Given the description of an element on the screen output the (x, y) to click on. 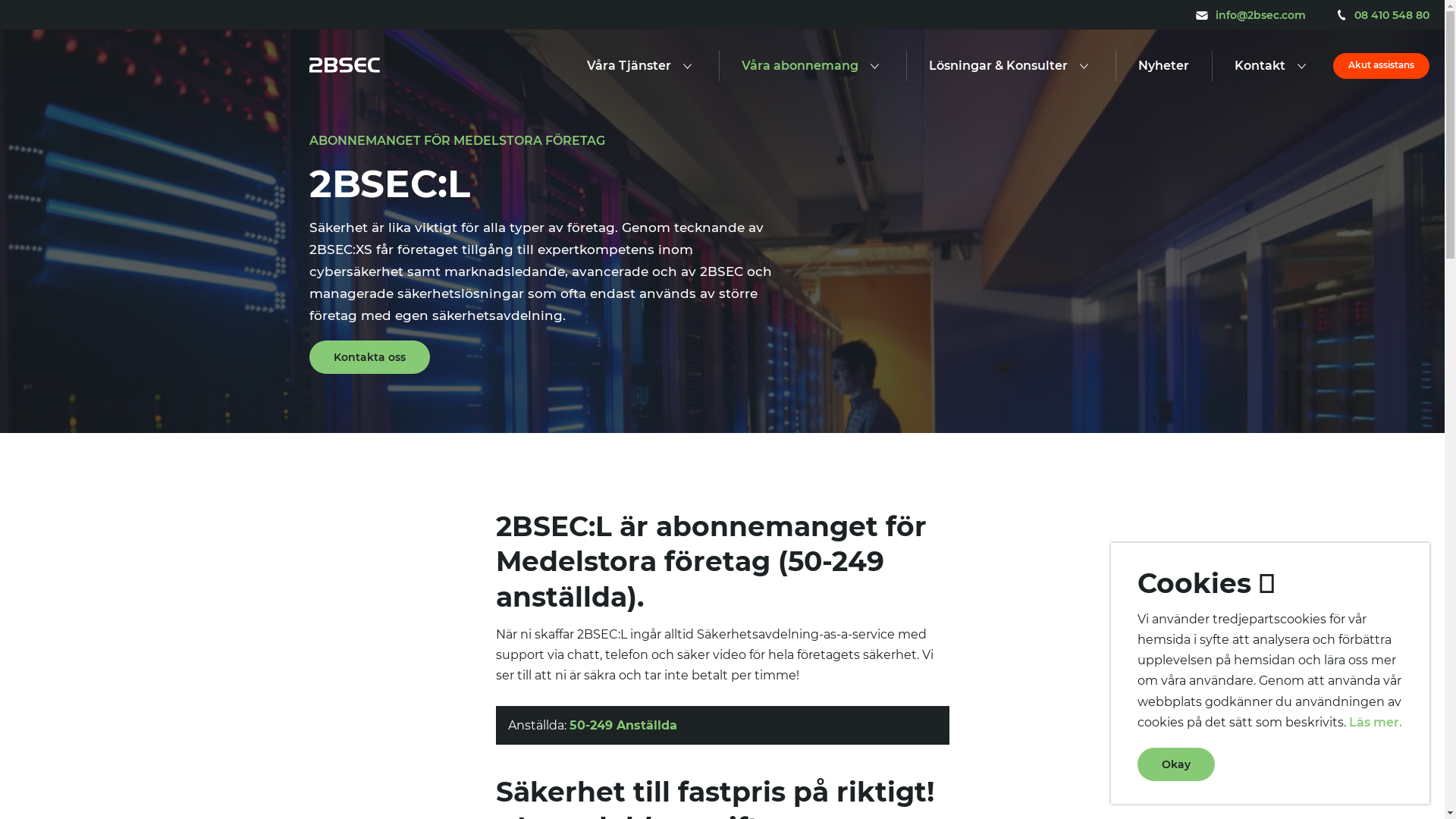
Akut assistans Element type: text (1381, 65)
Kontakta oss Element type: text (369, 356)
2BSEC:L - 2bsec Element type: hover (344, 66)
info@2bsec.com Element type: text (1250, 14)
Okay Element type: text (1175, 764)
08 410 548 80 Element type: text (1382, 14)
Nyheter Element type: text (1163, 66)
Kontakt Element type: text (1259, 66)
